Given the description of an element on the screen output the (x, y) to click on. 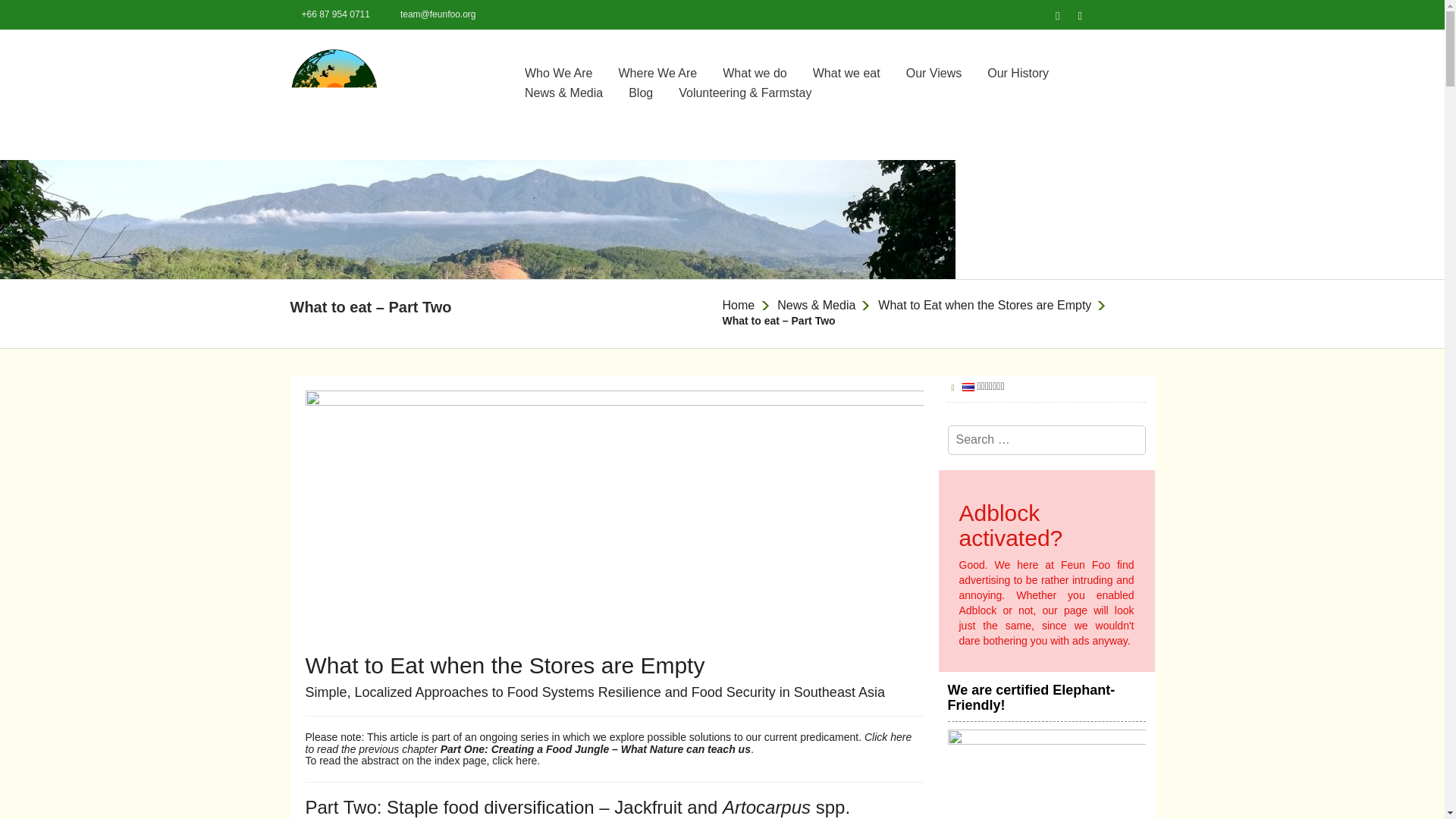
What we eat (846, 73)
Home (738, 305)
Our Views (933, 73)
Who We Are (558, 73)
Where We Are (657, 73)
Search (1099, 440)
Search (1099, 440)
What we do (753, 73)
What to Eat when the Stores are Empty (983, 305)
